Given the description of an element on the screen output the (x, y) to click on. 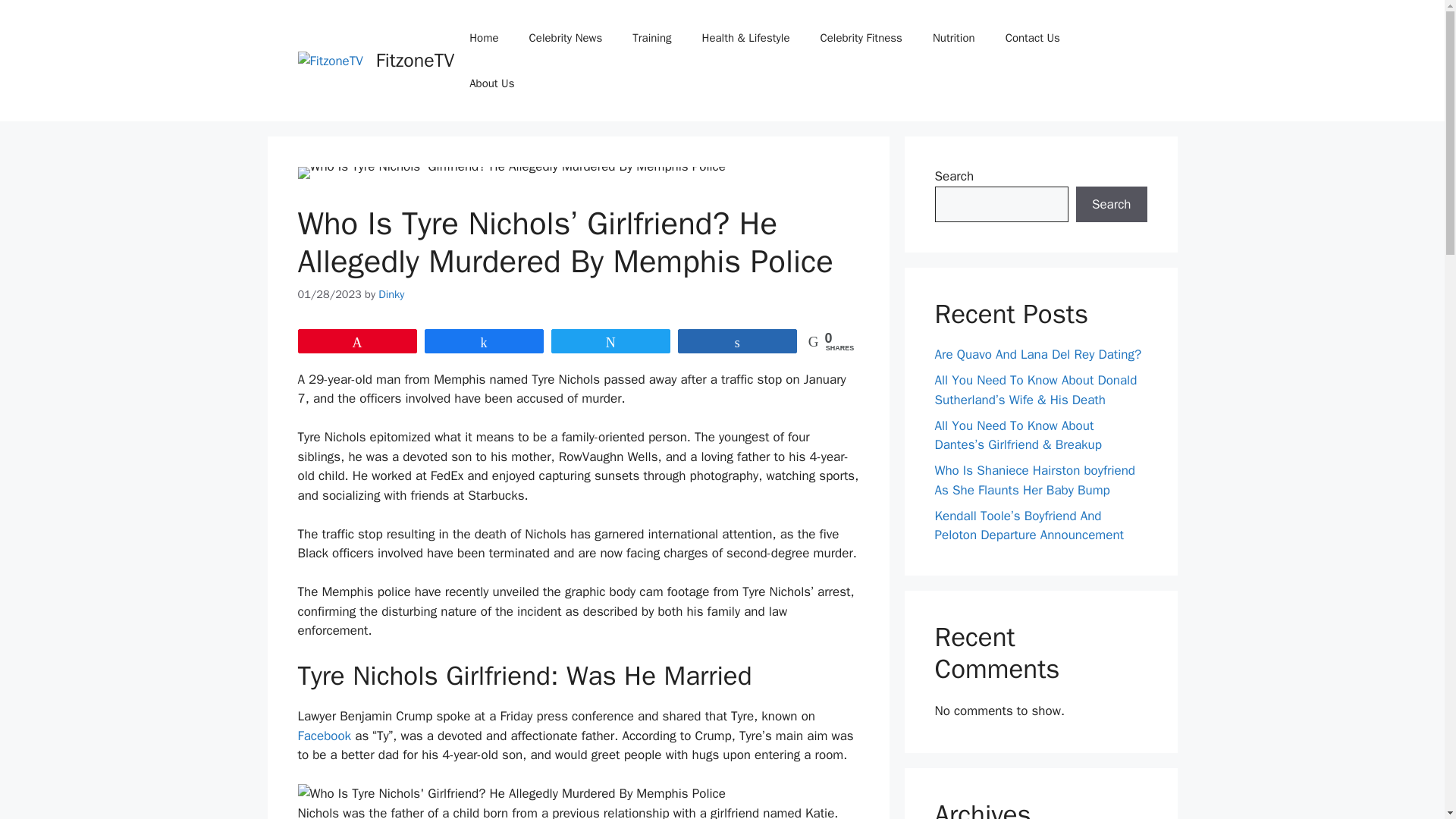
View all posts by Dinky (391, 294)
Facebook (323, 735)
Are Quavo And Lana Del Rey Dating? (1037, 354)
FitzoneTV (414, 60)
Celebrity Fitness (861, 37)
Contact Us (1032, 37)
Home (483, 37)
Search (1111, 204)
Dinky (391, 294)
About Us (491, 83)
Training (651, 37)
Nutrition (953, 37)
Celebrity News (565, 37)
